Given the description of an element on the screen output the (x, y) to click on. 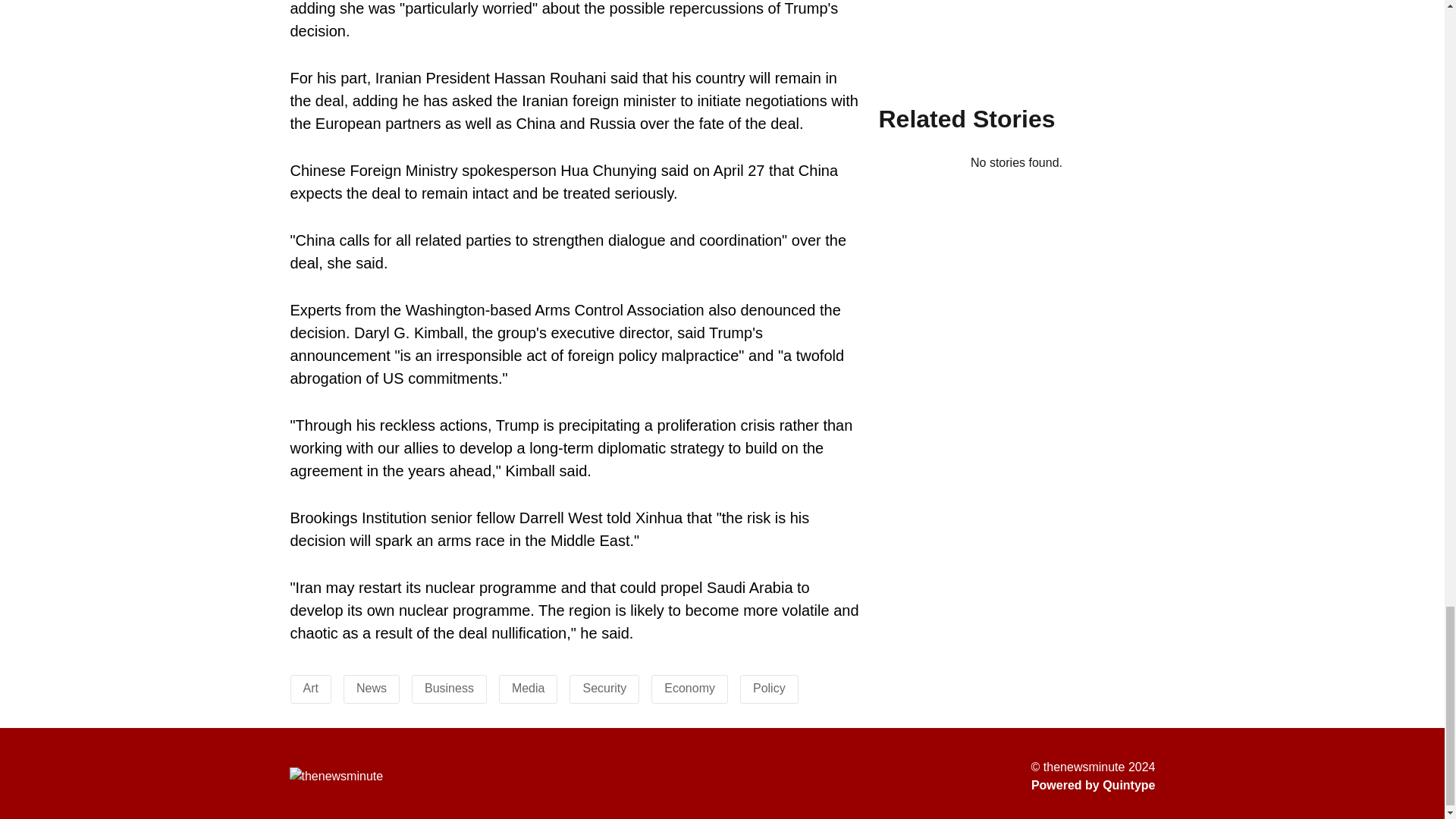
Art (310, 687)
Powered by Quintype (1093, 785)
Policy (769, 687)
Business (449, 687)
News (371, 687)
Security (604, 687)
Media (528, 687)
Economy (688, 687)
